Given the description of an element on the screen output the (x, y) to click on. 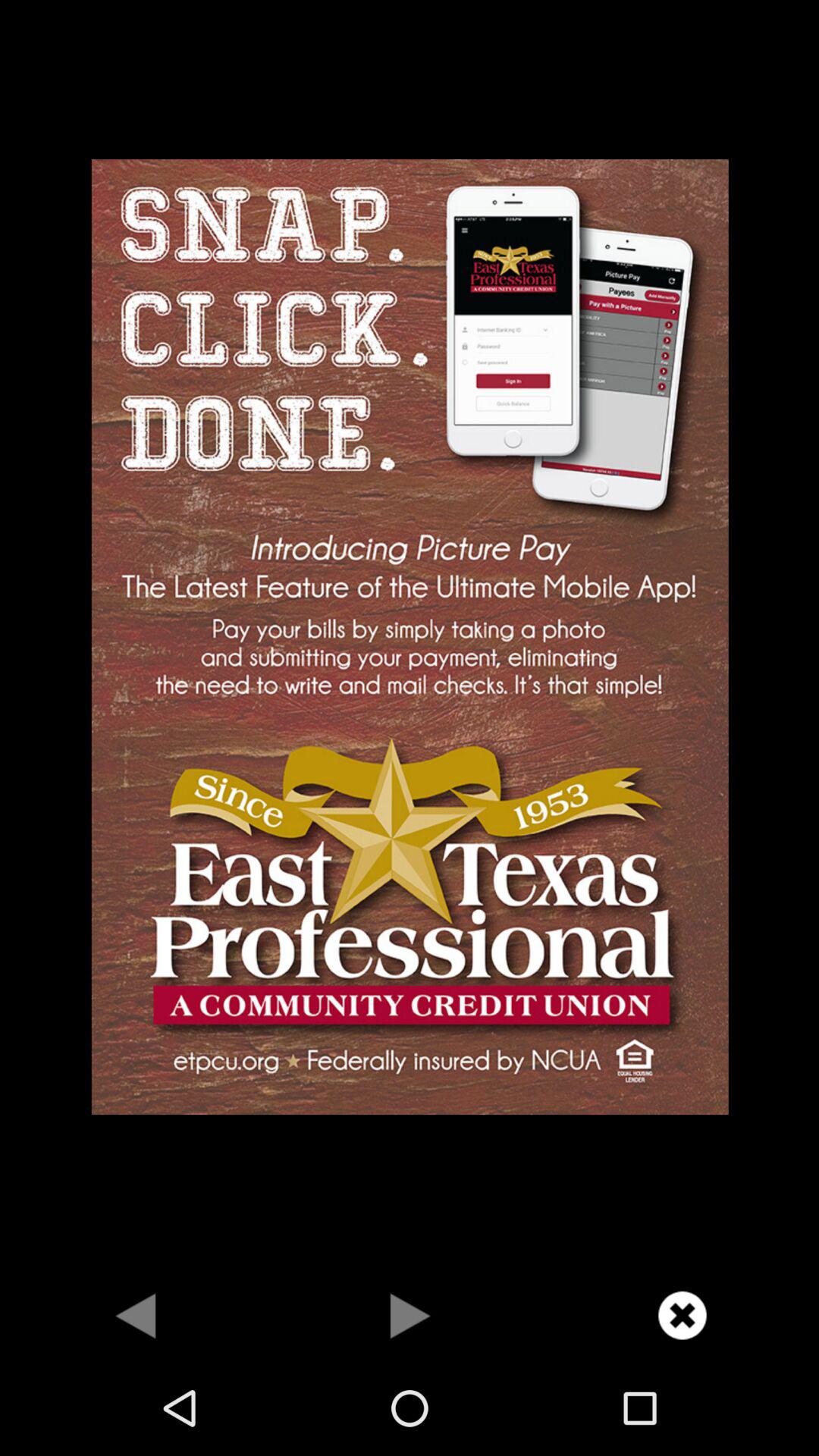
delate (682, 1315)
